Given the description of an element on the screen output the (x, y) to click on. 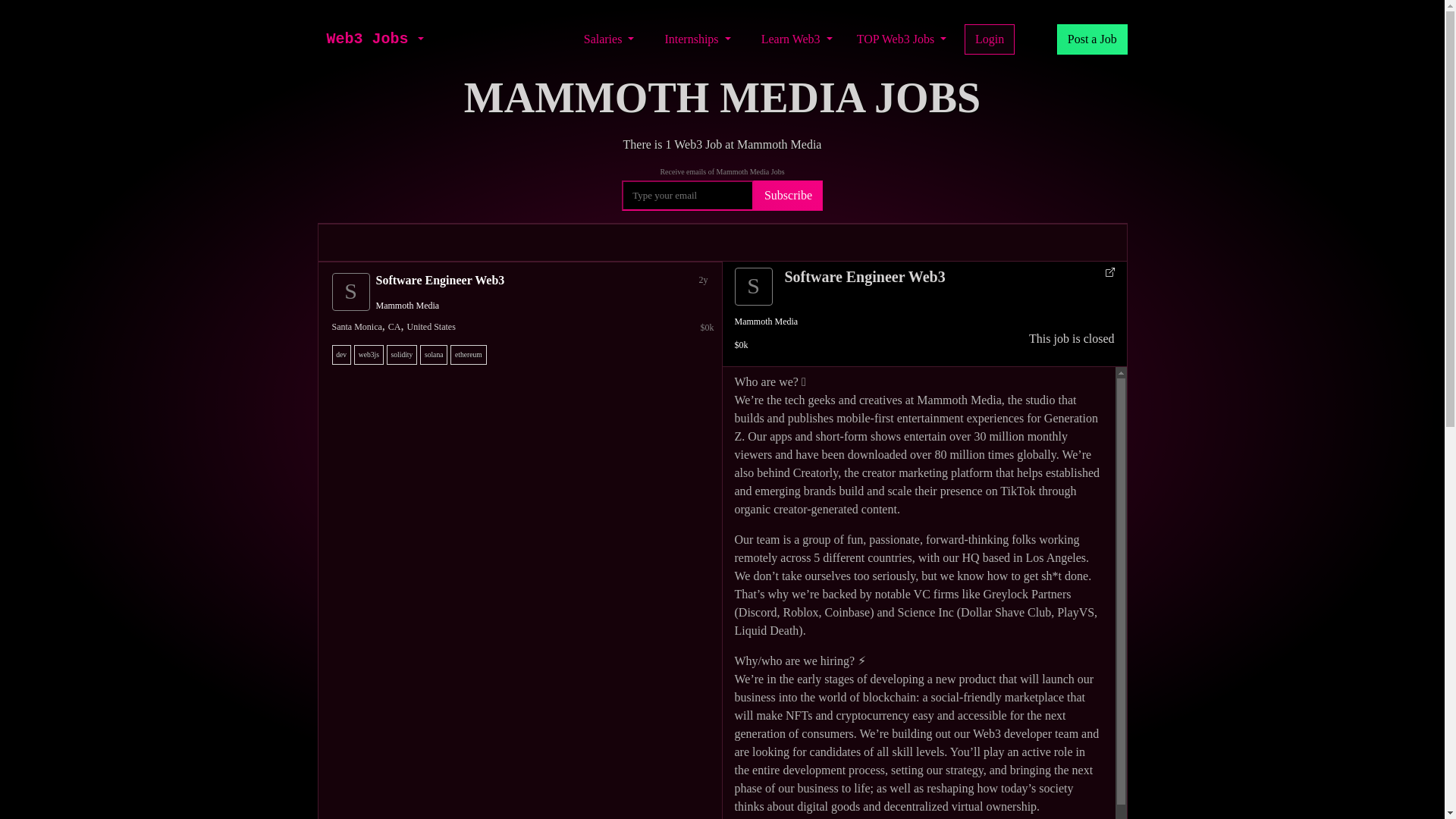
Learn Web3 (796, 39)
Web3 Jobs (366, 39)
Subscribe (788, 195)
Internships (697, 39)
Salaries (609, 39)
